Given the description of an element on the screen output the (x, y) to click on. 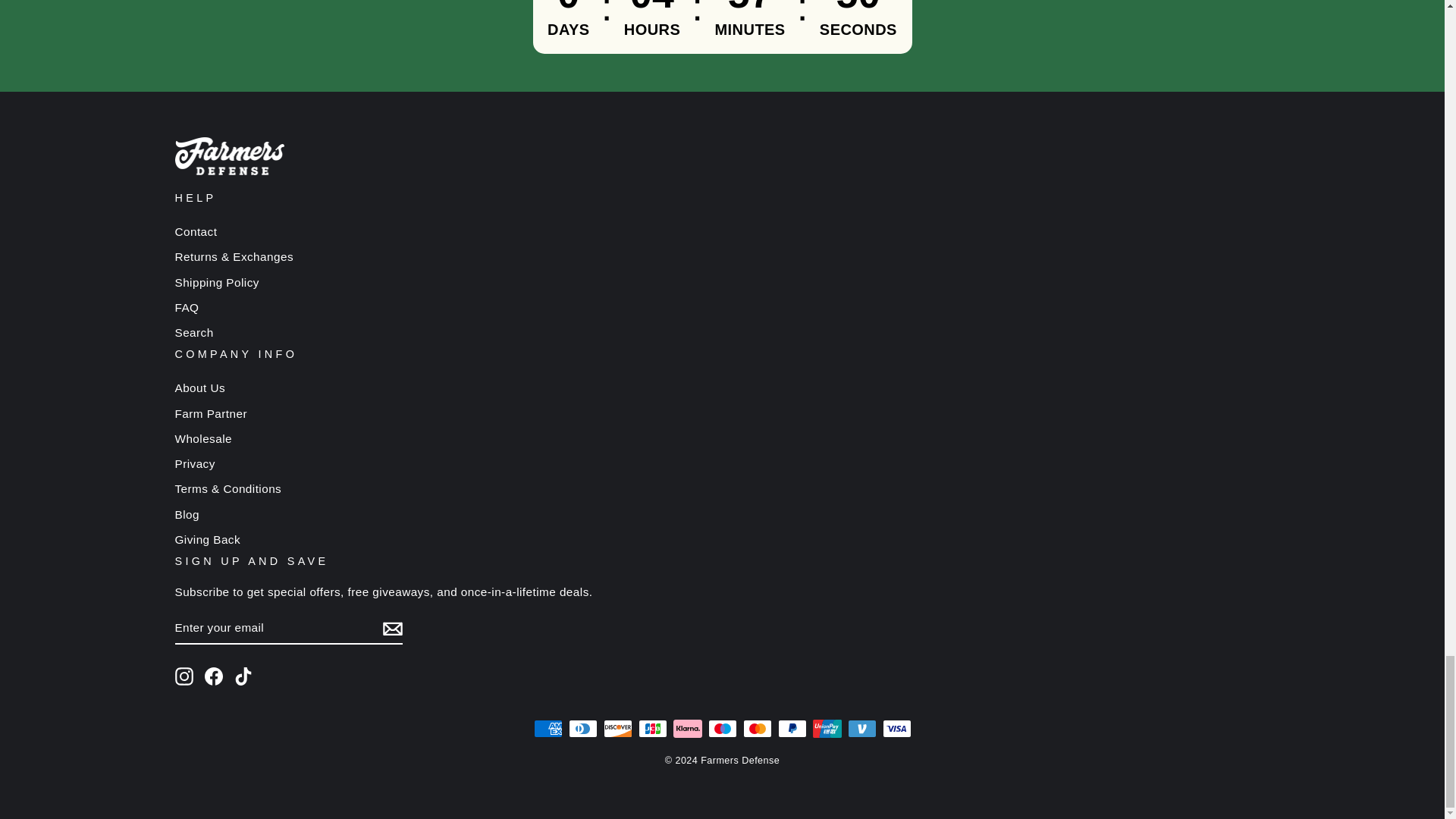
Farmers Defense on TikTok (241, 676)
Farmers Defense on Facebook (213, 676)
Farmers Defense on Instagram (183, 676)
